Given the description of an element on the screen output the (x, y) to click on. 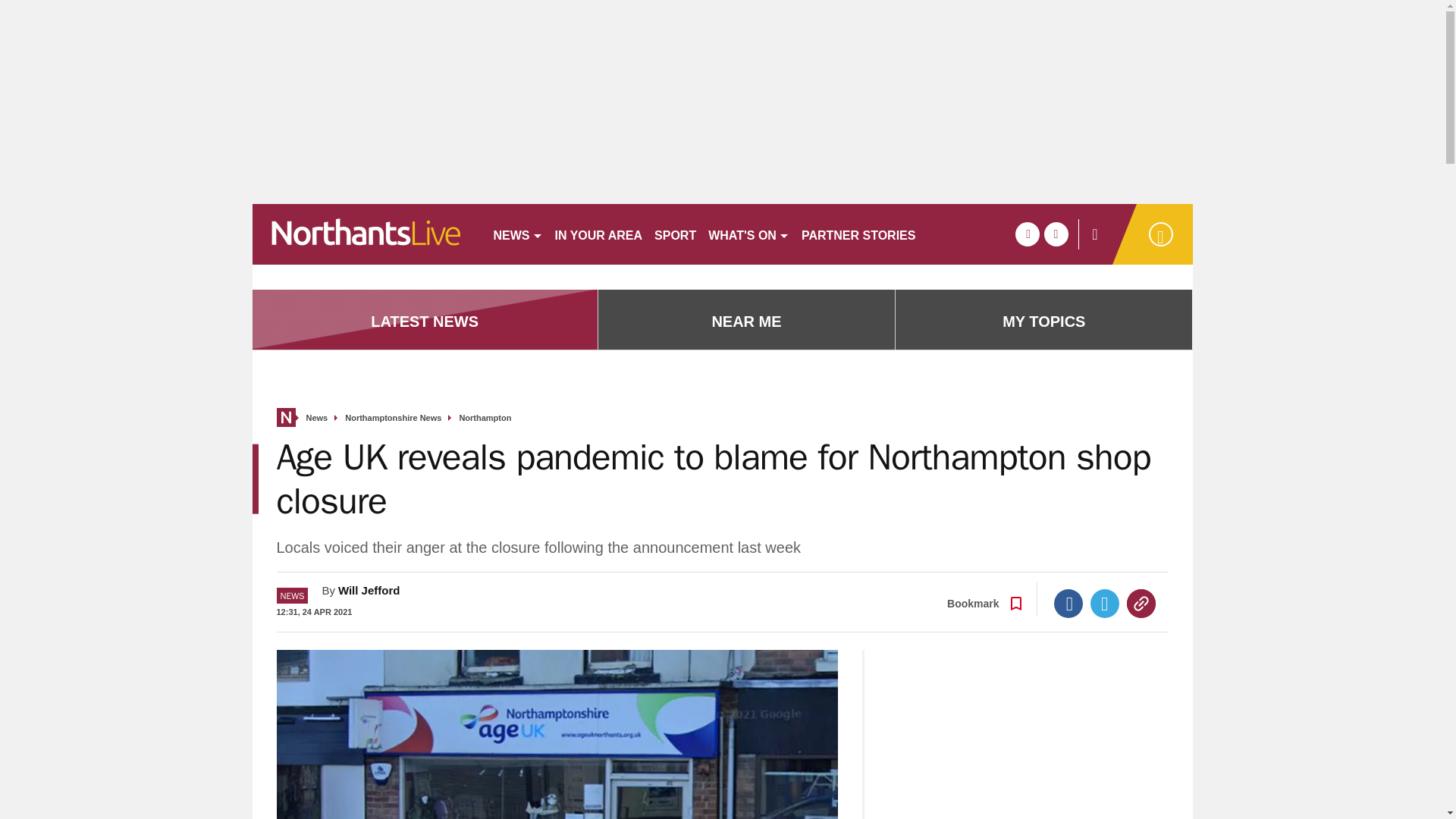
MY TOPICS (1043, 320)
WHAT'S ON (747, 233)
Home (285, 416)
twitter (1055, 233)
IN YOUR AREA (598, 233)
PARTNER STORIES (857, 233)
Northamptonshire News (393, 418)
NEWS (517, 233)
facebook (1026, 233)
Facebook (1068, 603)
